Given the description of an element on the screen output the (x, y) to click on. 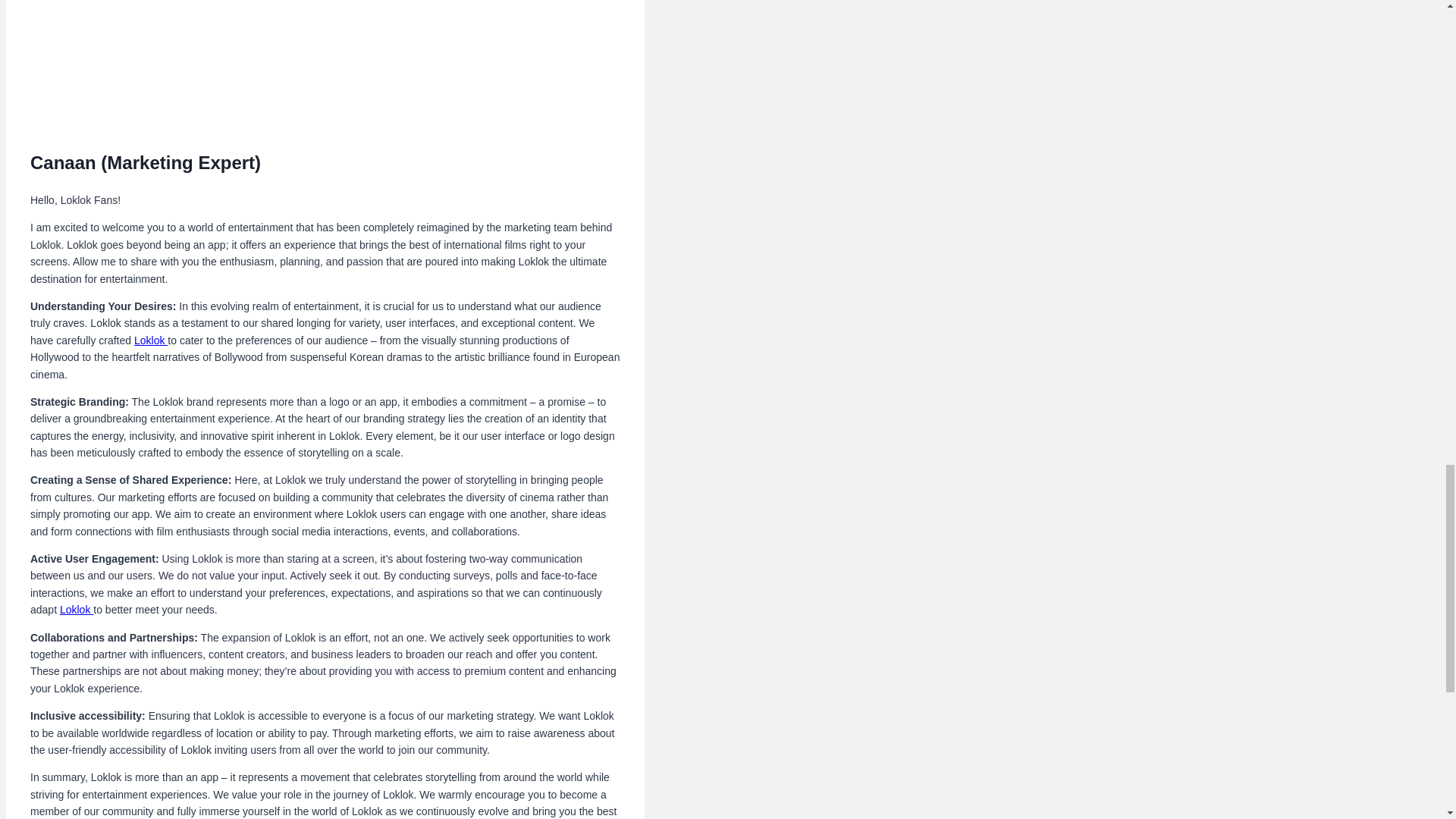
Loklok (150, 340)
Loklok (76, 609)
